Given the description of an element on the screen output the (x, y) to click on. 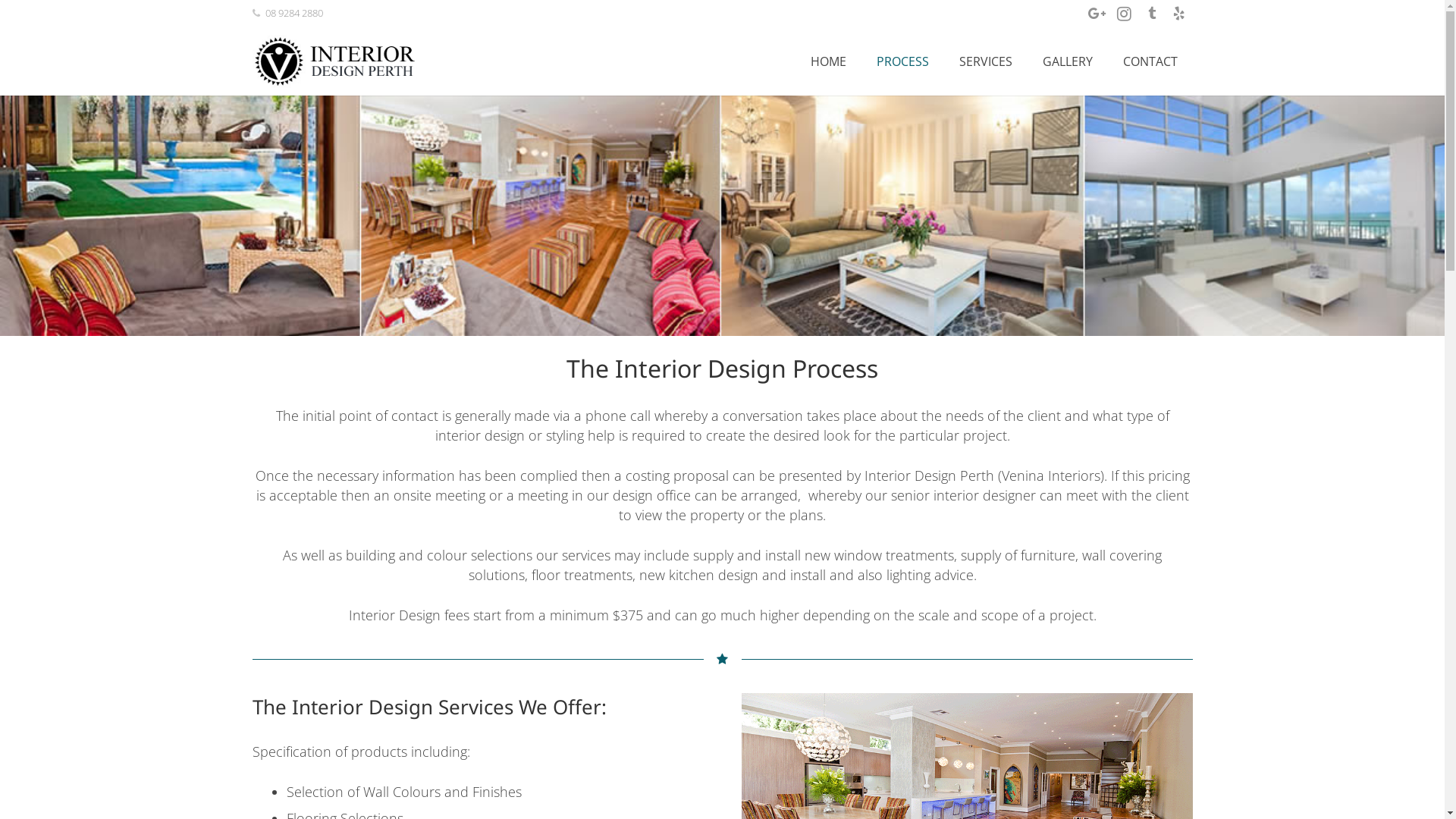
SERVICES Element type: text (985, 61)
HOME Element type: text (828, 61)
GALLERY Element type: text (1067, 61)
PROCESS Element type: text (902, 61)
CONTACT Element type: text (1149, 61)
